Given the description of an element on the screen output the (x, y) to click on. 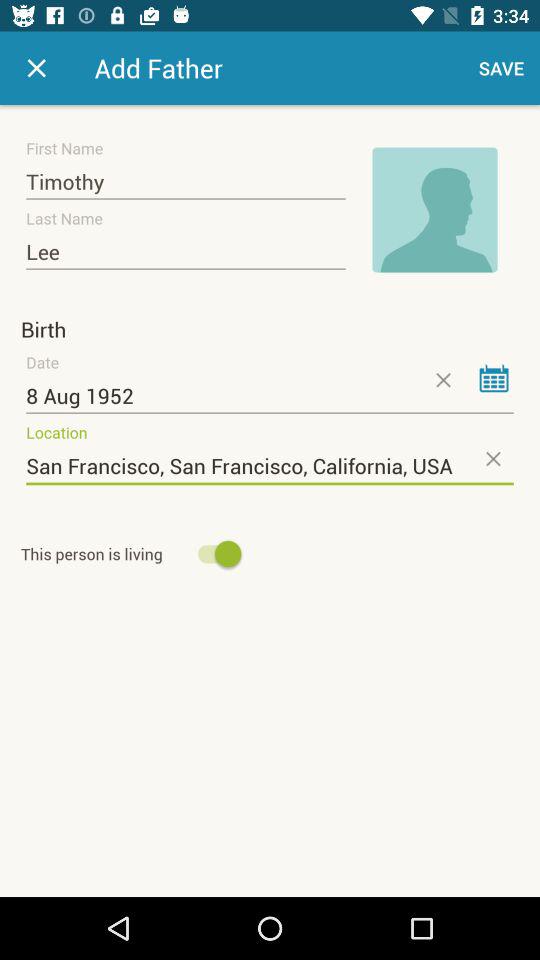
turn off icon below the 8 aug 1952 icon (270, 466)
